Given the description of an element on the screen output the (x, y) to click on. 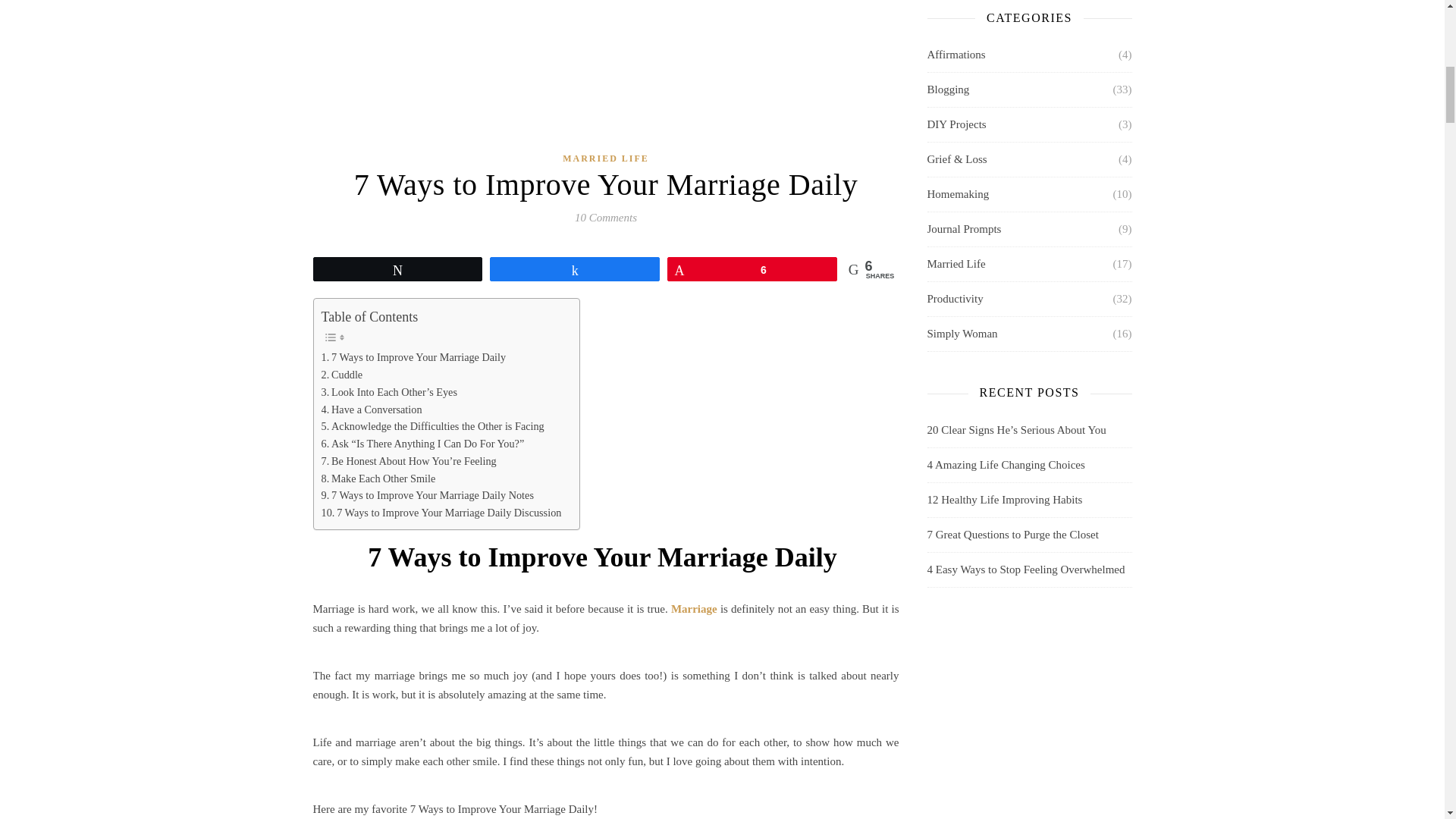
Make Each Other Smile  (379, 478)
7 Ways to Improve Your Marriage Daily Notes  (429, 495)
6 (751, 268)
Have a Conversation  (373, 408)
7 Ways to Improve Your Marriage Daily  (414, 357)
7 Ways to Improve Your Marriage Daily Discussion  (442, 512)
MARRIED LIFE (605, 158)
Marriage (694, 608)
